Given the description of an element on the screen output the (x, y) to click on. 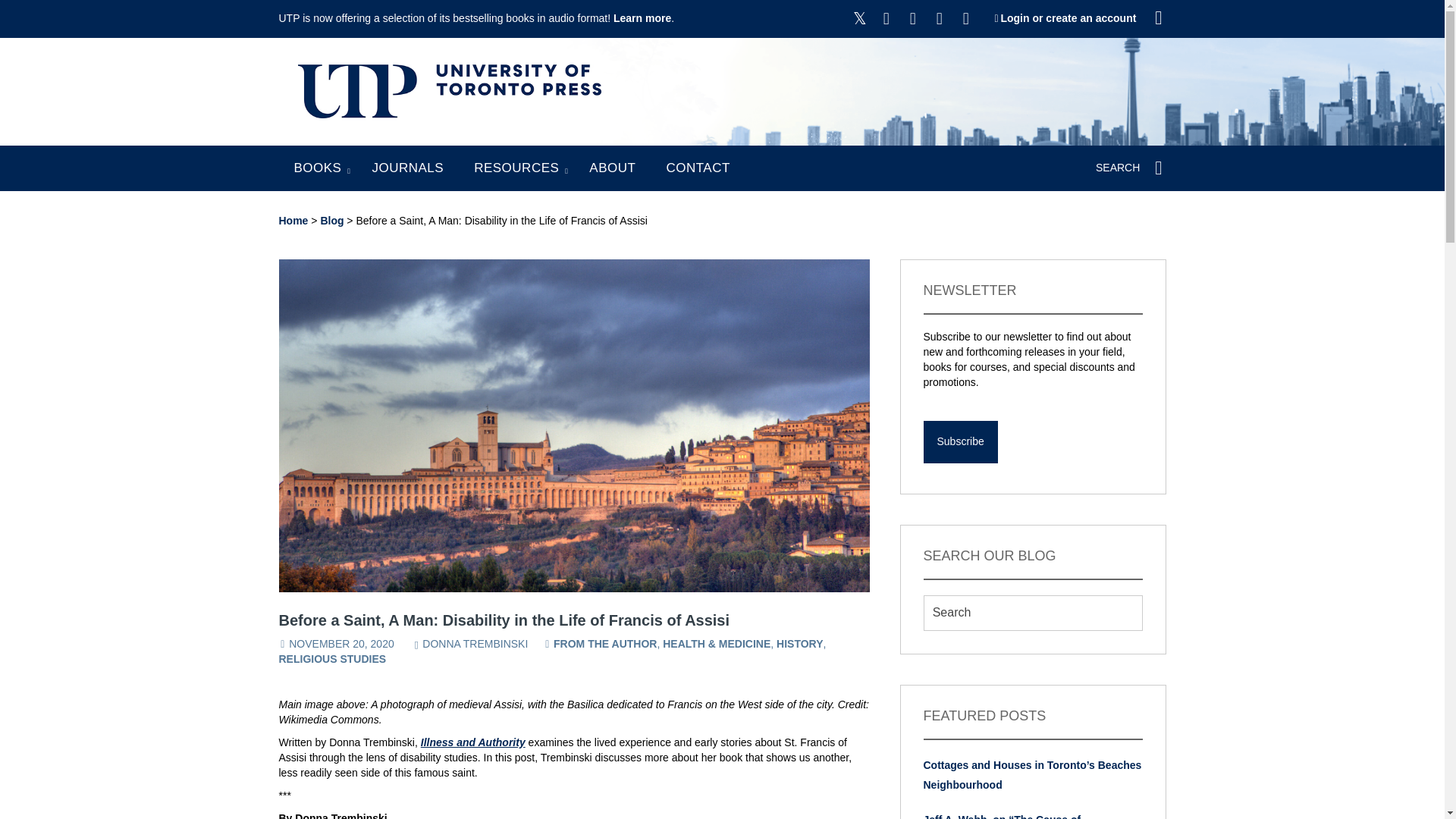
Login or create an account (1068, 18)
SEARCH (1131, 168)
Search (1032, 612)
ABOUT (611, 168)
CONTACT (697, 168)
Search (1032, 612)
Follow us on Instagram (912, 18)
FROM THE AUTHOR (604, 644)
Follow us on LinkedIn (965, 18)
Cart (1158, 18)
Home (293, 220)
Follow us on Facebook (886, 18)
Blog (331, 220)
RESOURCES (516, 168)
Learn more (641, 18)
